Given the description of an element on the screen output the (x, y) to click on. 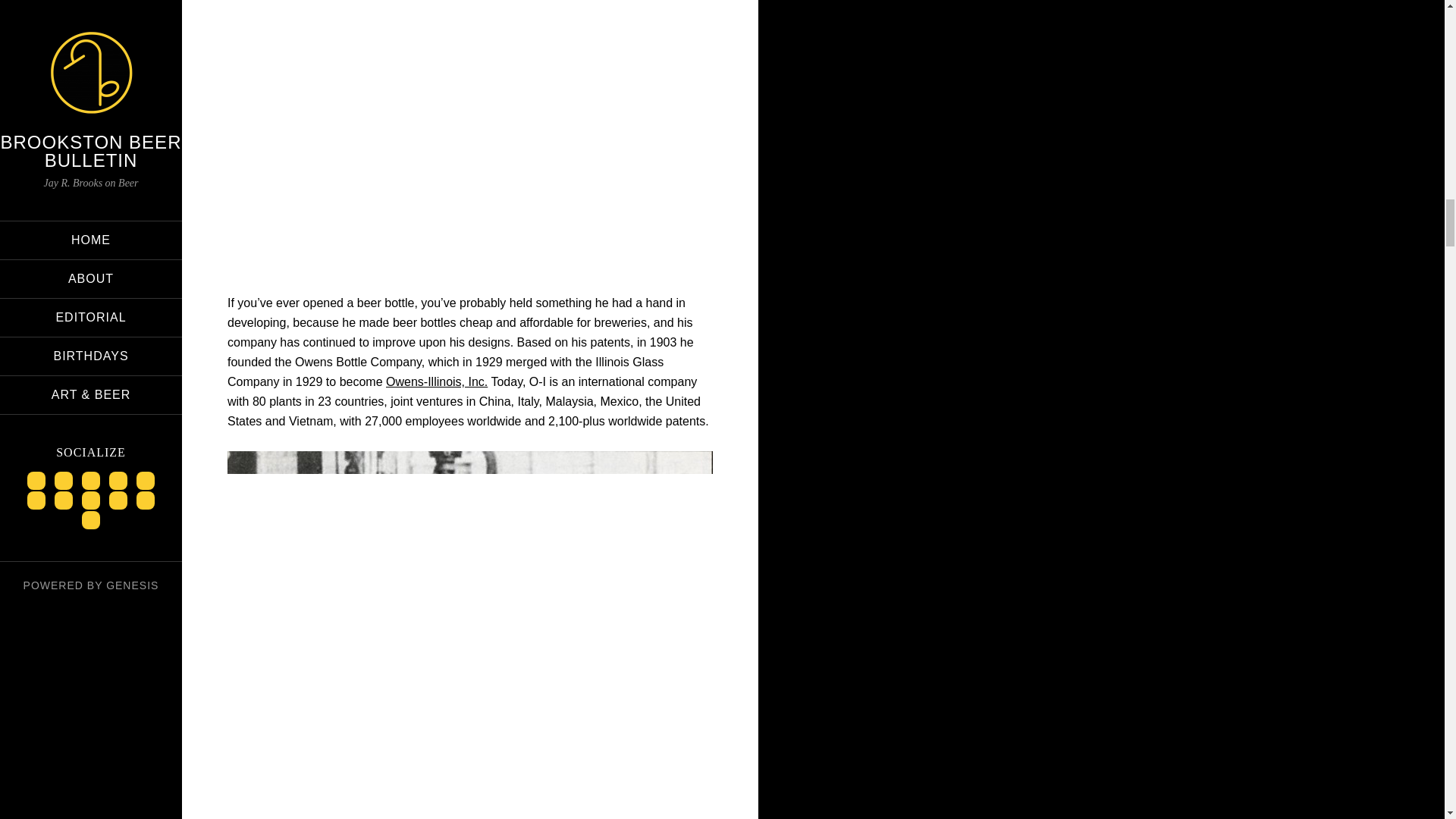
Owens-Illinois, Inc. (436, 381)
